Given the description of an element on the screen output the (x, y) to click on. 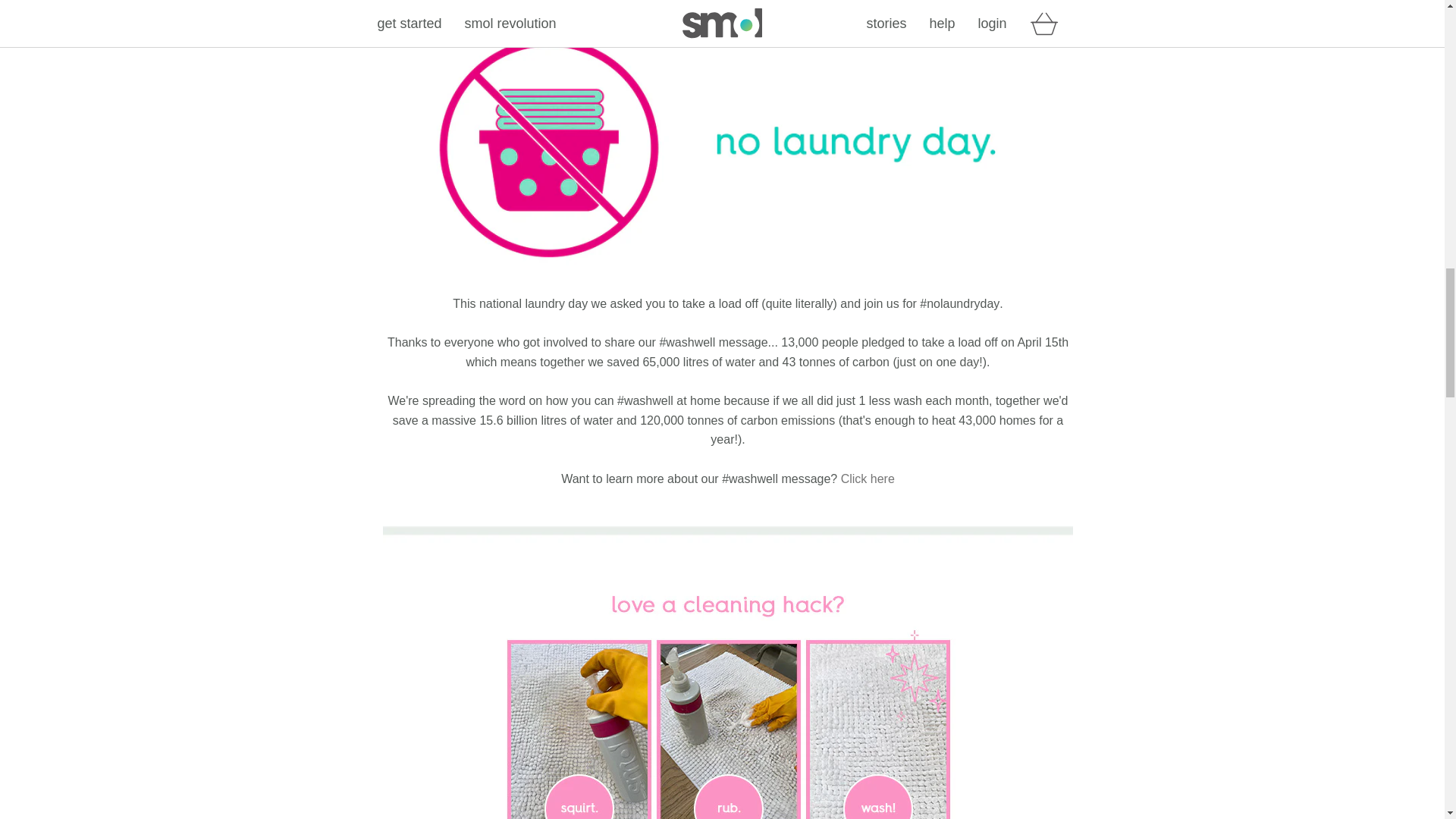
washwell (868, 478)
